Given the description of an element on the screen output the (x, y) to click on. 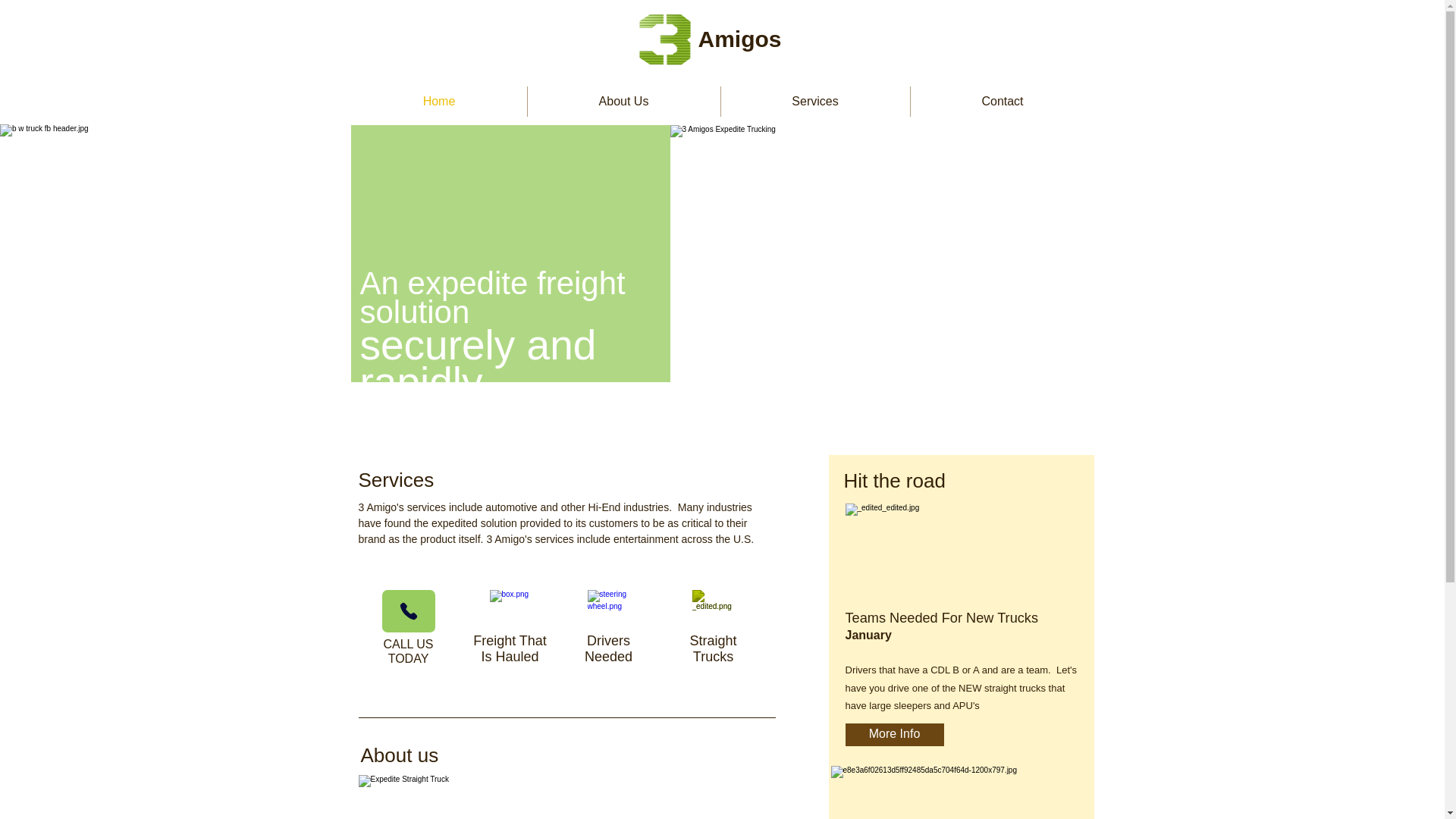
Home (439, 101)
About Us (623, 101)
More Info (608, 649)
Amigos (893, 734)
Services (510, 649)
Contact (738, 38)
